Given the description of an element on the screen output the (x, y) to click on. 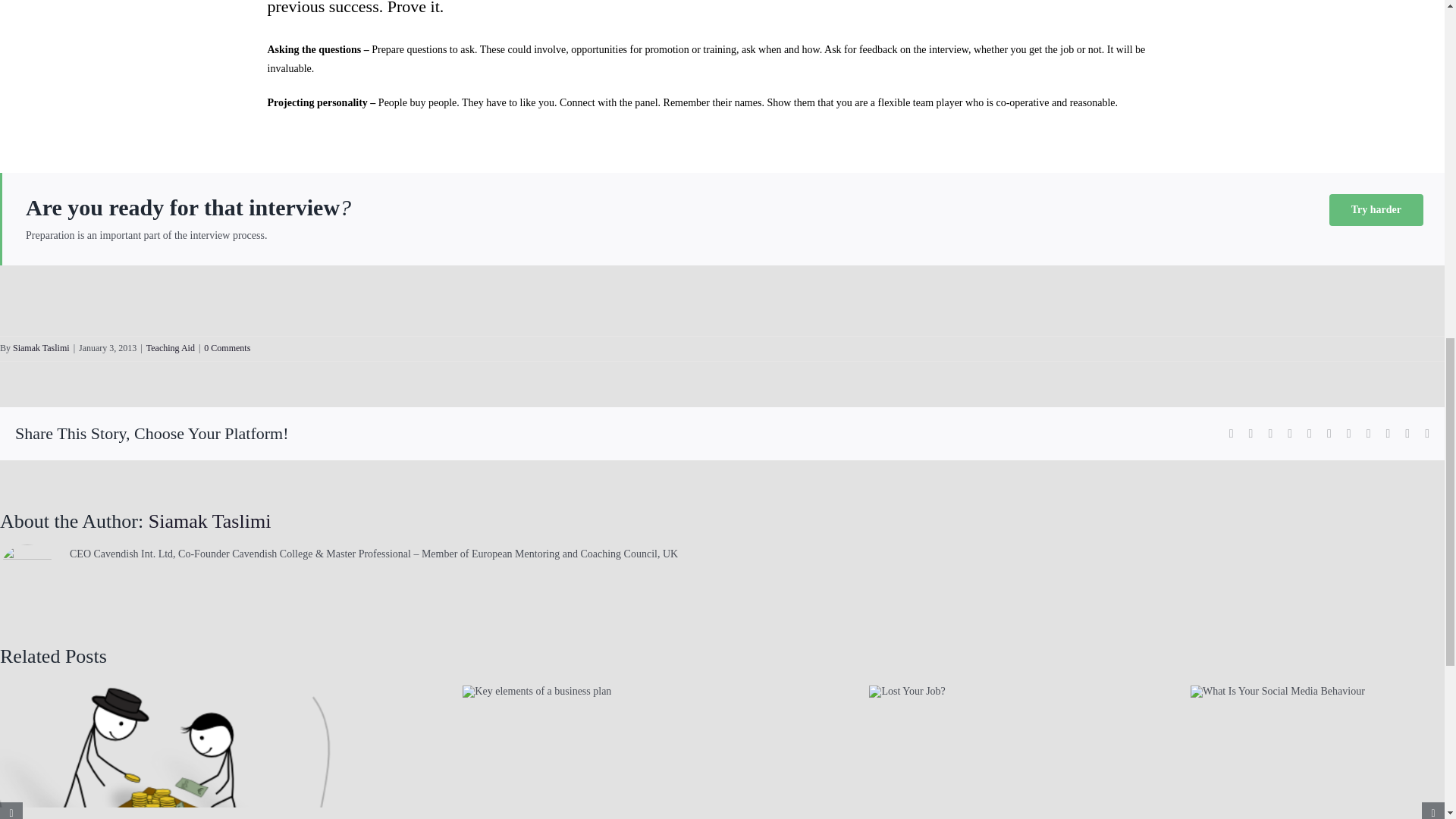
Posts by Siamak Taslimi (41, 347)
